Given the description of an element on the screen output the (x, y) to click on. 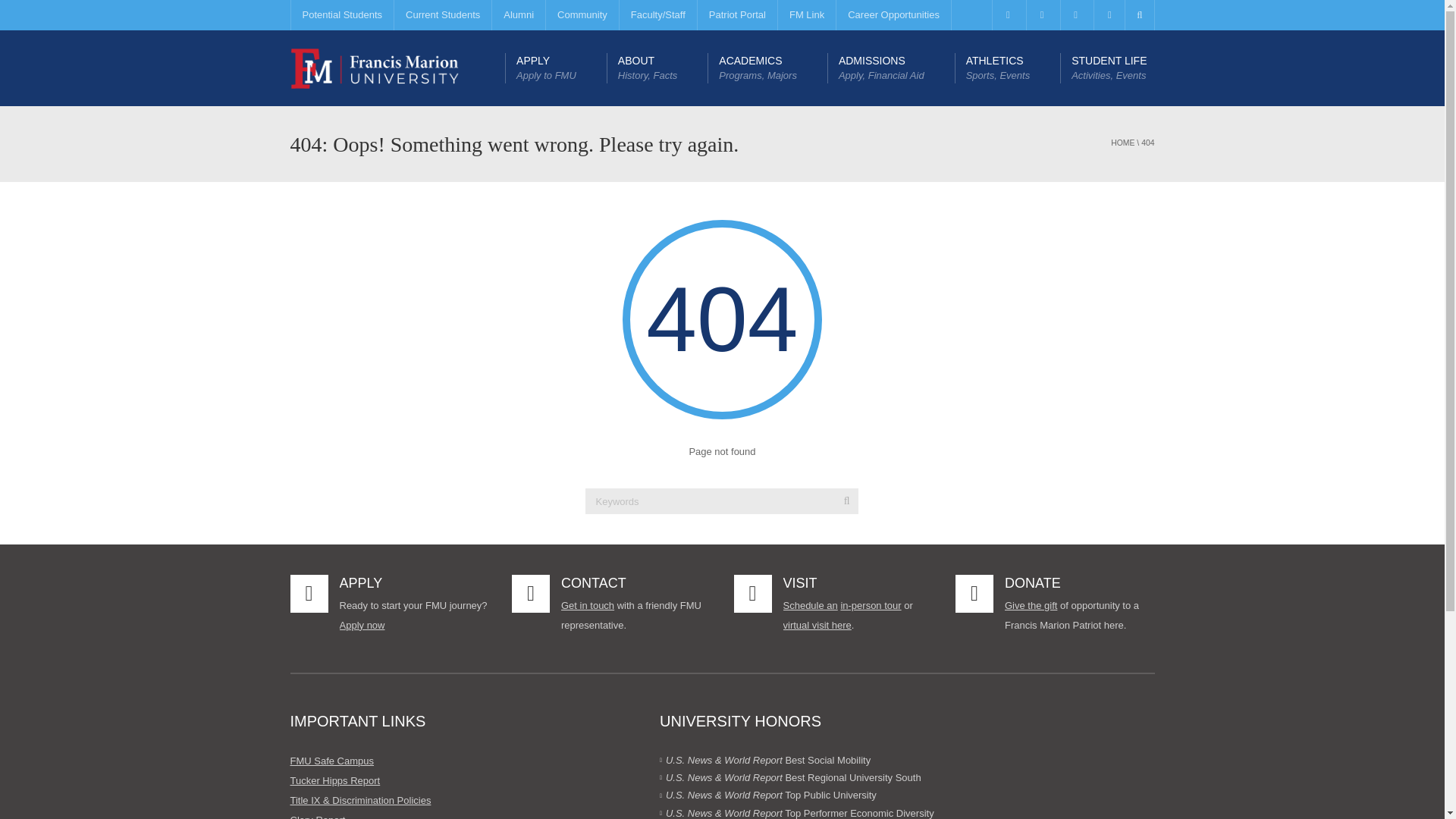
Francis Marion Facebook page (1007, 15)
Francis Marion YouTube channel (1074, 15)
Search (846, 501)
Francis Marion Twitter account (1041, 15)
Potential Students (341, 15)
Francis Marion Instagram account (1108, 15)
Current Students (442, 15)
